Given the description of an element on the screen output the (x, y) to click on. 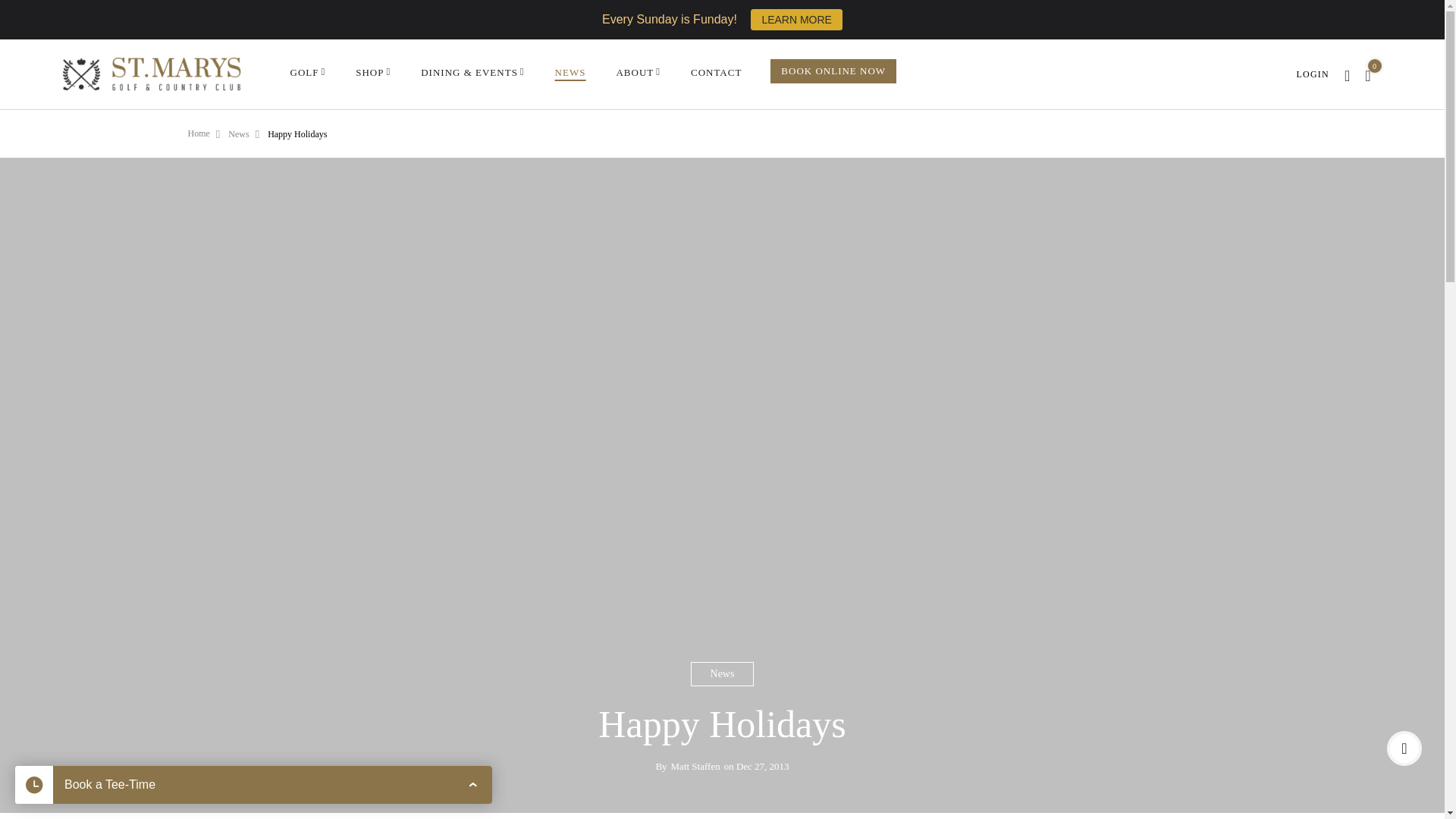
NEWS (570, 72)
LOGIN (1313, 72)
SHOP (372, 72)
ABOUT (638, 72)
CONTACT (715, 72)
LEARN MORE (797, 19)
GOLF (306, 72)
BOOK ONLINE NOW (833, 70)
